Given the description of an element on the screen output the (x, y) to click on. 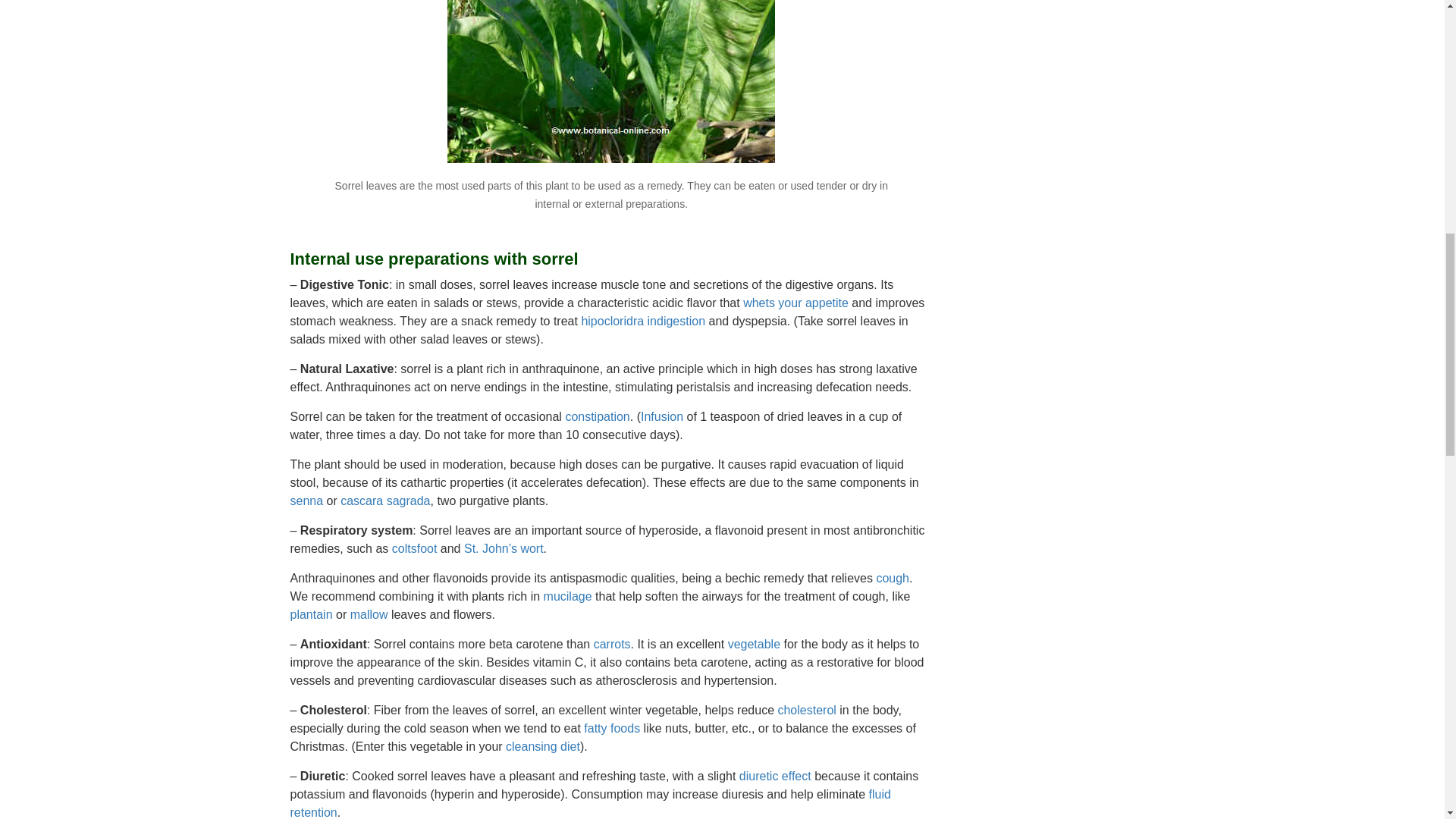
Advertisement (1055, 58)
